Given the description of an element on the screen output the (x, y) to click on. 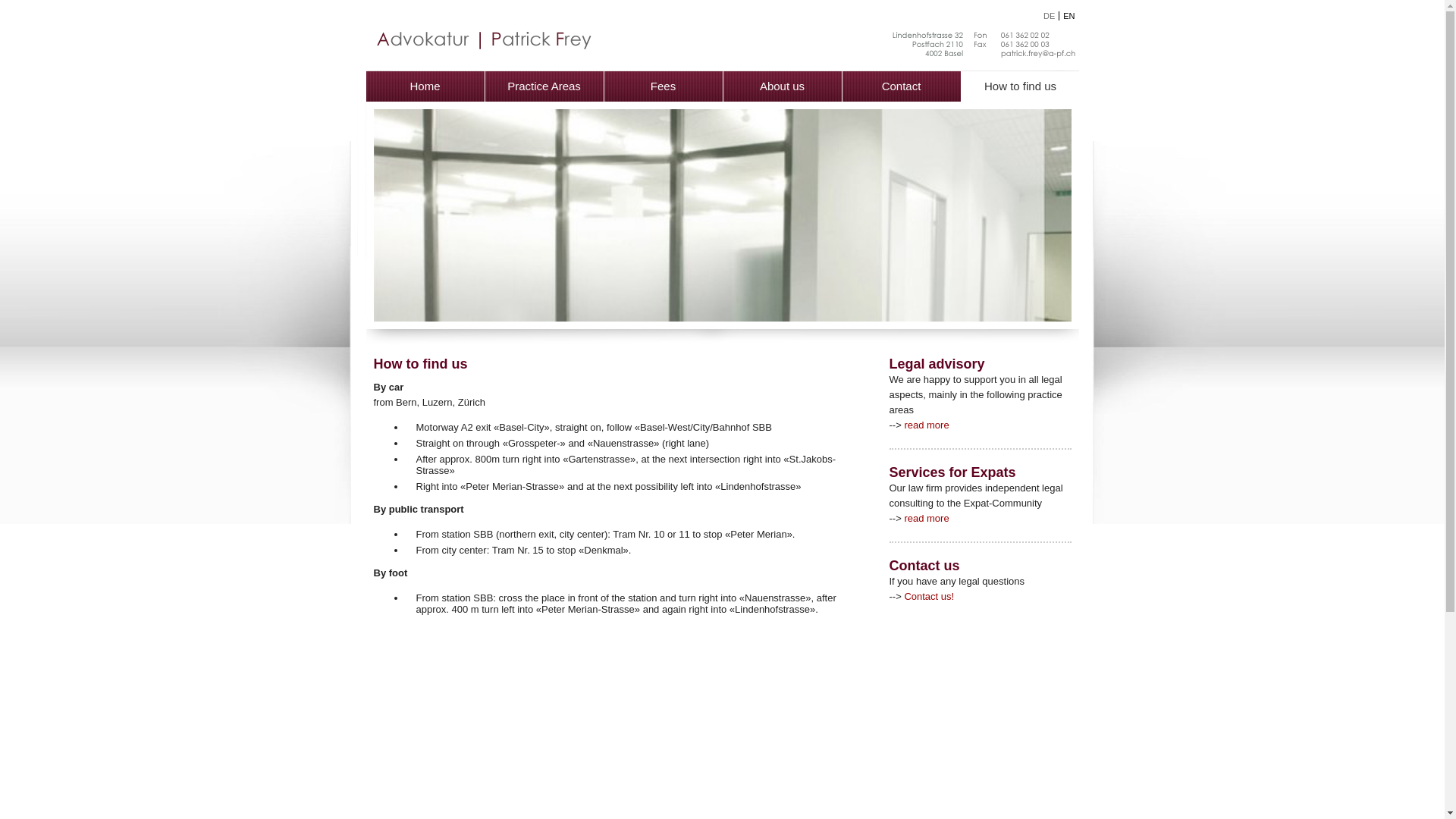
DE Element type: text (1048, 15)
Home Element type: text (424, 86)
EN Element type: text (1068, 15)
read more Element type: text (925, 424)
Startseite Element type: hover (983, 56)
read more Element type: text (925, 518)
Contact us! Element type: text (928, 596)
Startseite Element type: hover (483, 53)
Practice Areas Element type: text (544, 86)
How to find us Element type: text (1020, 86)
Fees Element type: text (662, 86)
About us Element type: text (782, 86)
Contact Element type: text (900, 86)
